Given the description of an element on the screen output the (x, y) to click on. 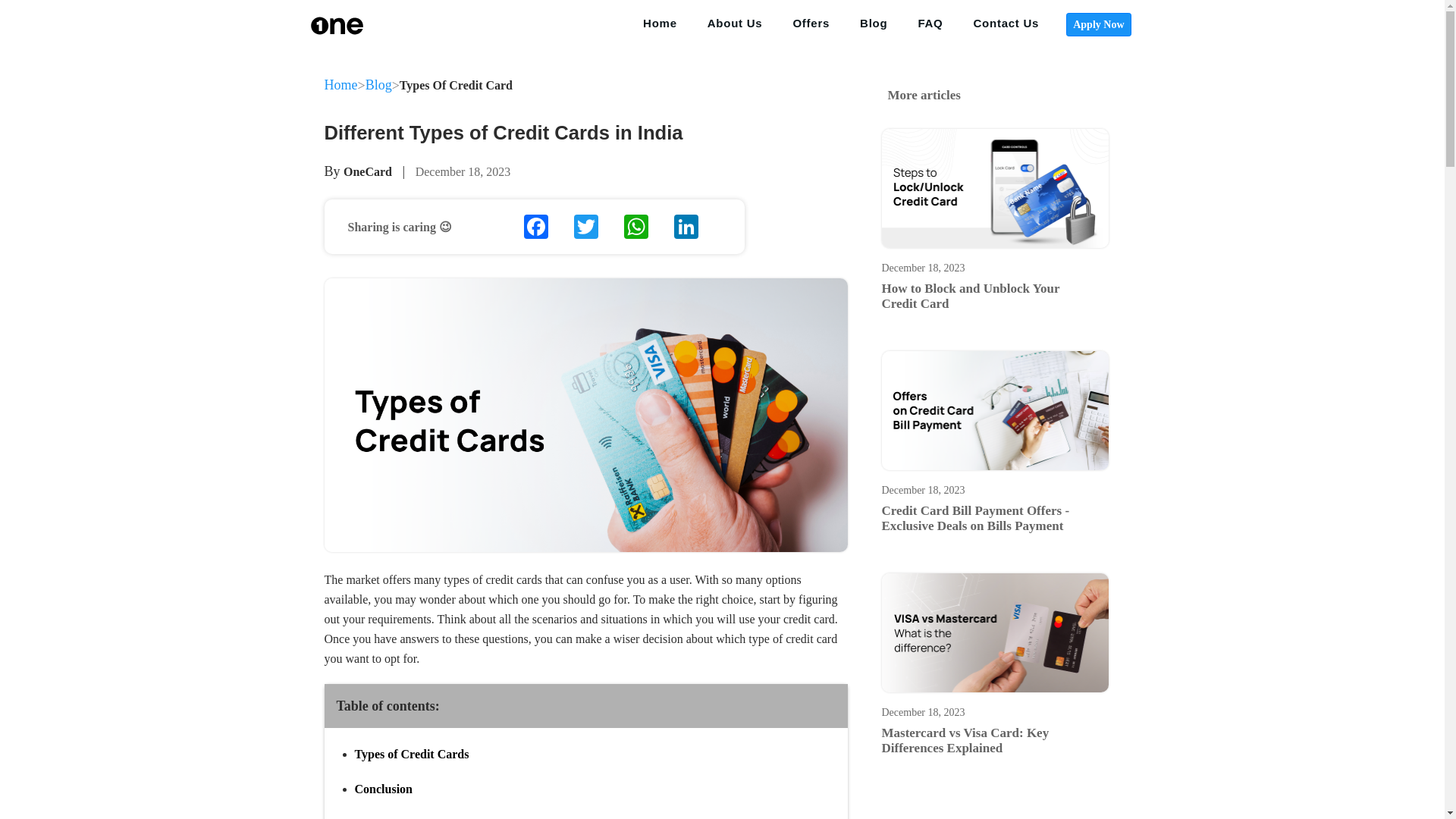
Home (660, 24)
Types of Credit Cards (411, 753)
Home (341, 84)
Apply Now (1098, 24)
Mastercard vs Visa Card: Key Differences Explained (964, 740)
FAQ (930, 24)
Blog (378, 84)
About Us (735, 24)
Offers (810, 24)
Blog (873, 24)
Conclusion (383, 788)
Contact Us (1006, 24)
How to Block and Unblock Your Credit Card (969, 296)
